Given the description of an element on the screen output the (x, y) to click on. 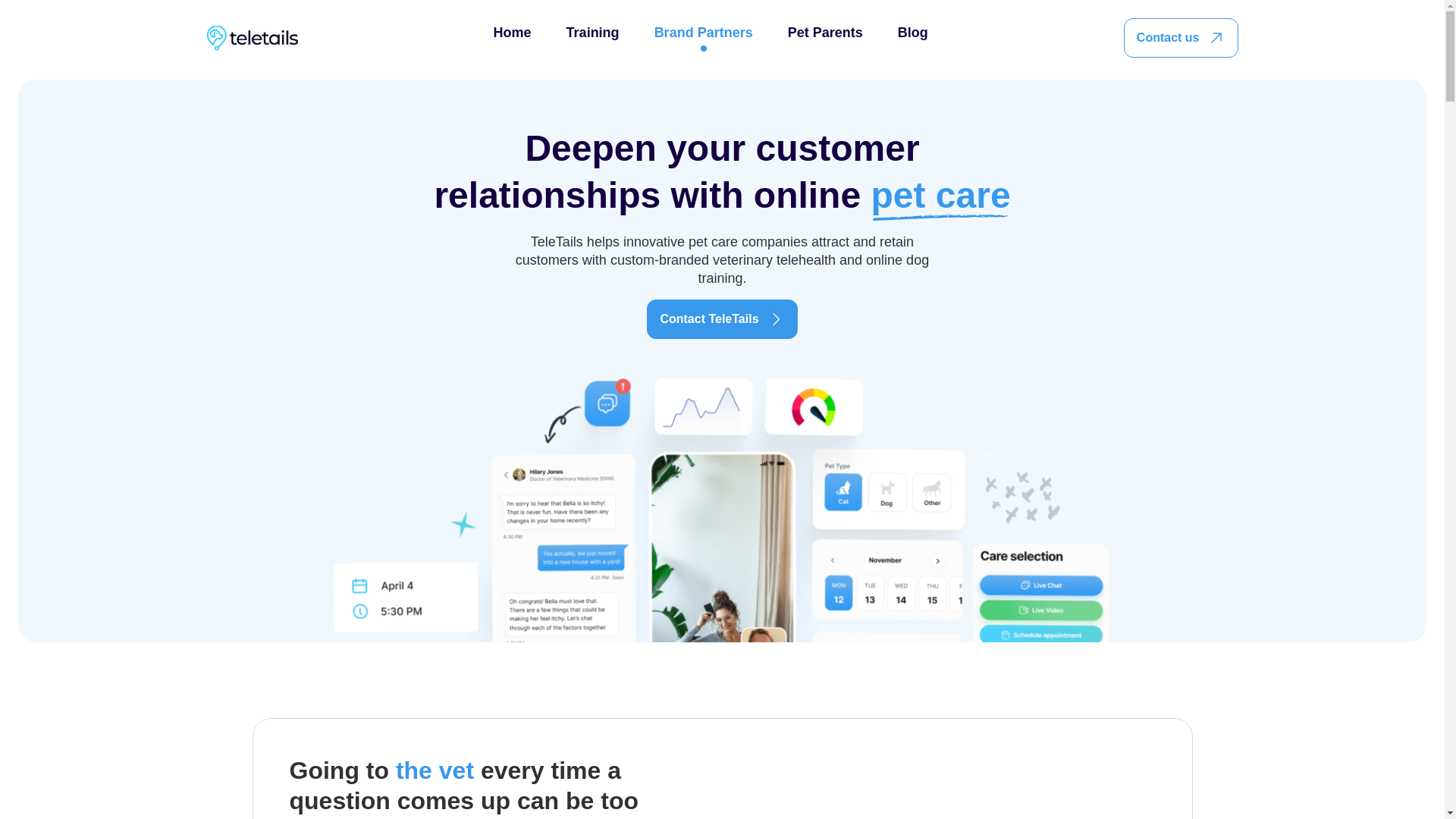
Contact TeleTails (721, 319)
Contact us (1181, 37)
Pet Parents (825, 37)
Training (593, 37)
Blog (913, 37)
Home (512, 37)
Brand Partners (702, 37)
